Given the description of an element on the screen output the (x, y) to click on. 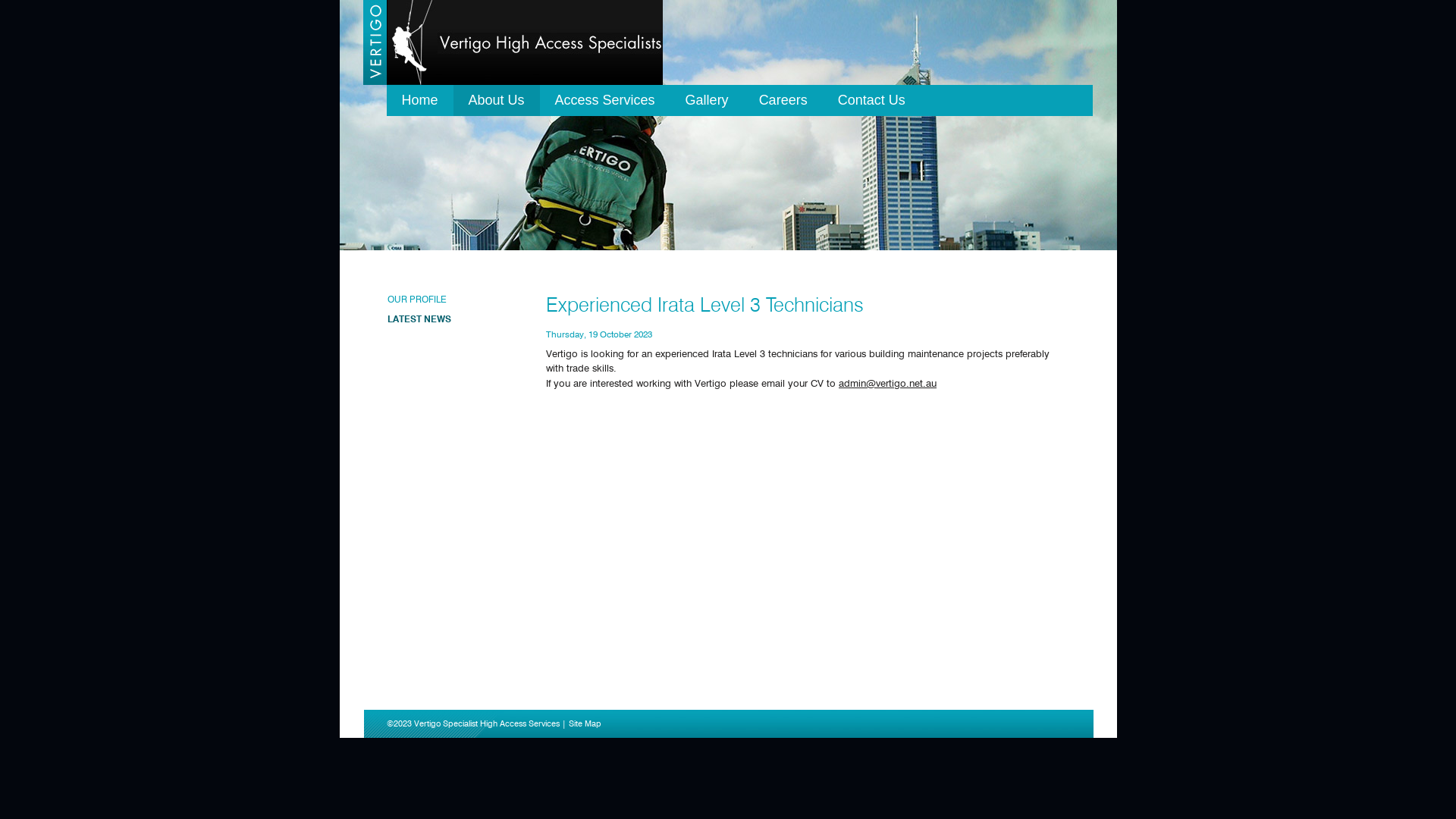
Gallery Element type: text (706, 100)
Contact Us Element type: text (871, 100)
Careers Element type: text (782, 100)
admin@vertigo.net.au Element type: text (887, 382)
Home Element type: text (419, 100)
OUR PROFILE Element type: text (415, 298)
About Us Element type: text (496, 100)
LATEST NEWS Element type: text (418, 318)
Site Map Element type: text (584, 723)
Access Services Element type: text (604, 100)
